Given the description of an element on the screen output the (x, y) to click on. 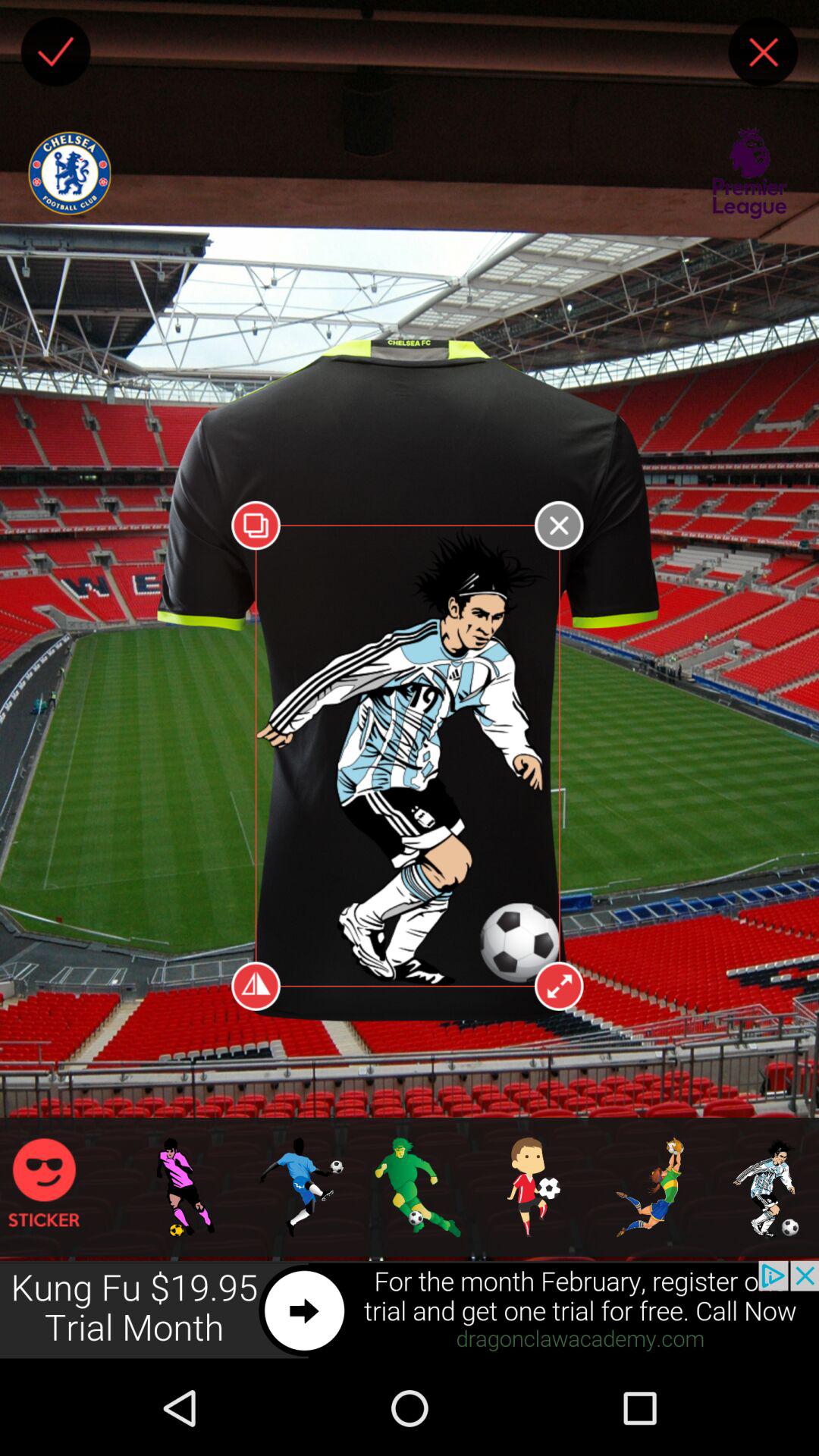
like the item (55, 51)
